Given the description of an element on the screen output the (x, y) to click on. 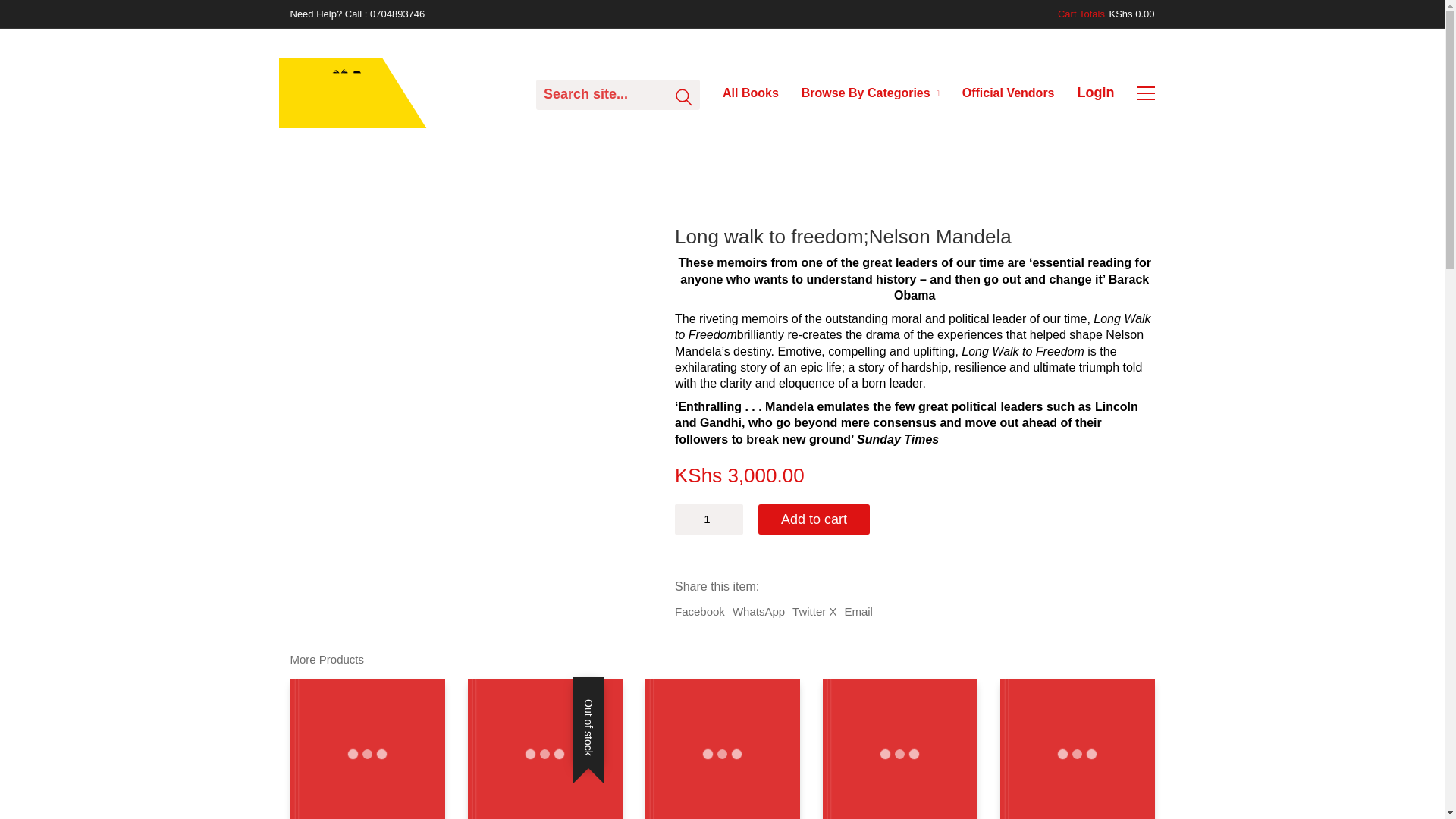
Official Vendors (1008, 92)
1 (708, 519)
All Books (750, 92)
Browse By Categories (870, 92)
KShs 0.00 (1131, 13)
